Given the description of an element on the screen output the (x, y) to click on. 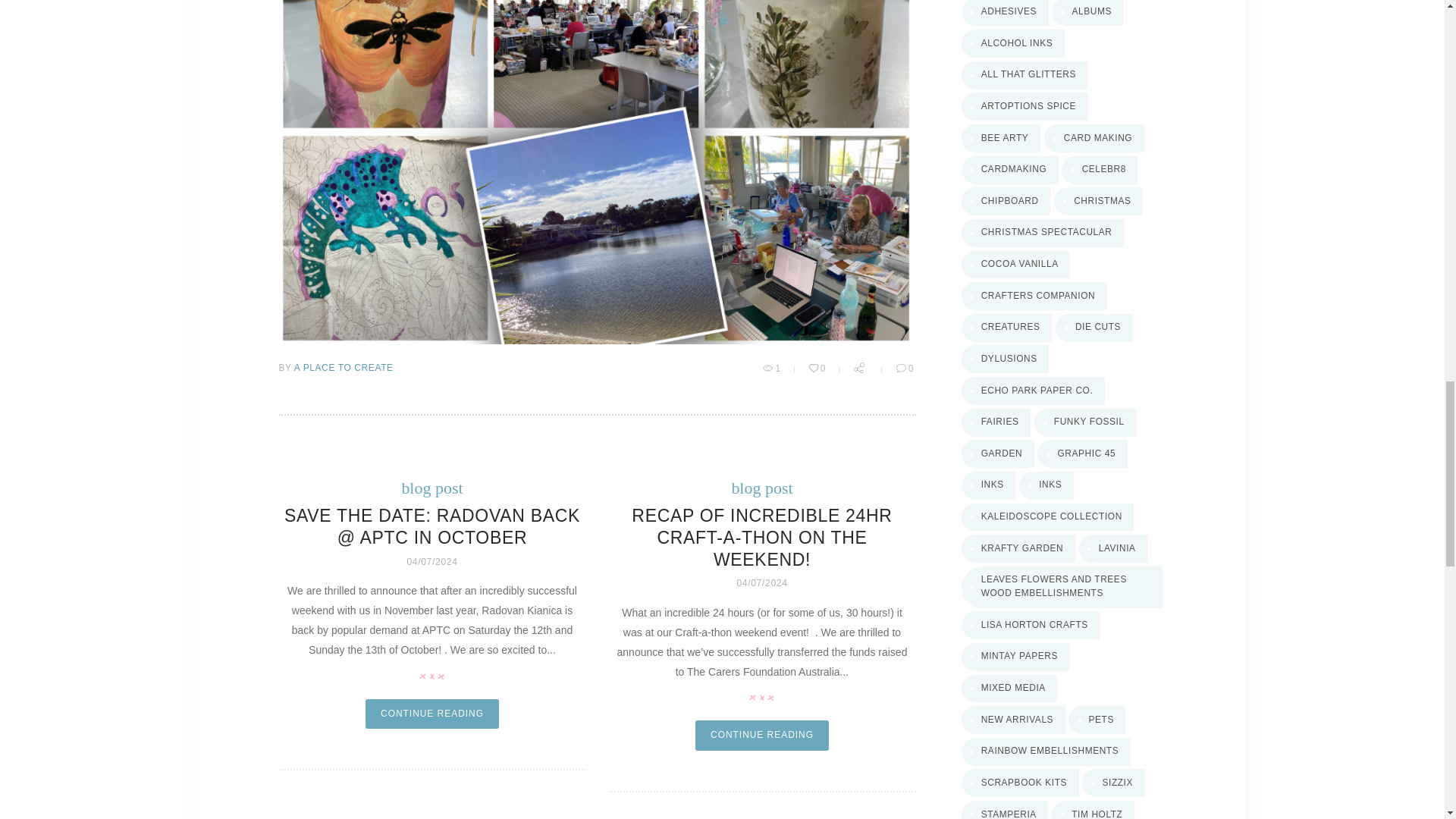
Like (818, 368)
